Given the description of an element on the screen output the (x, y) to click on. 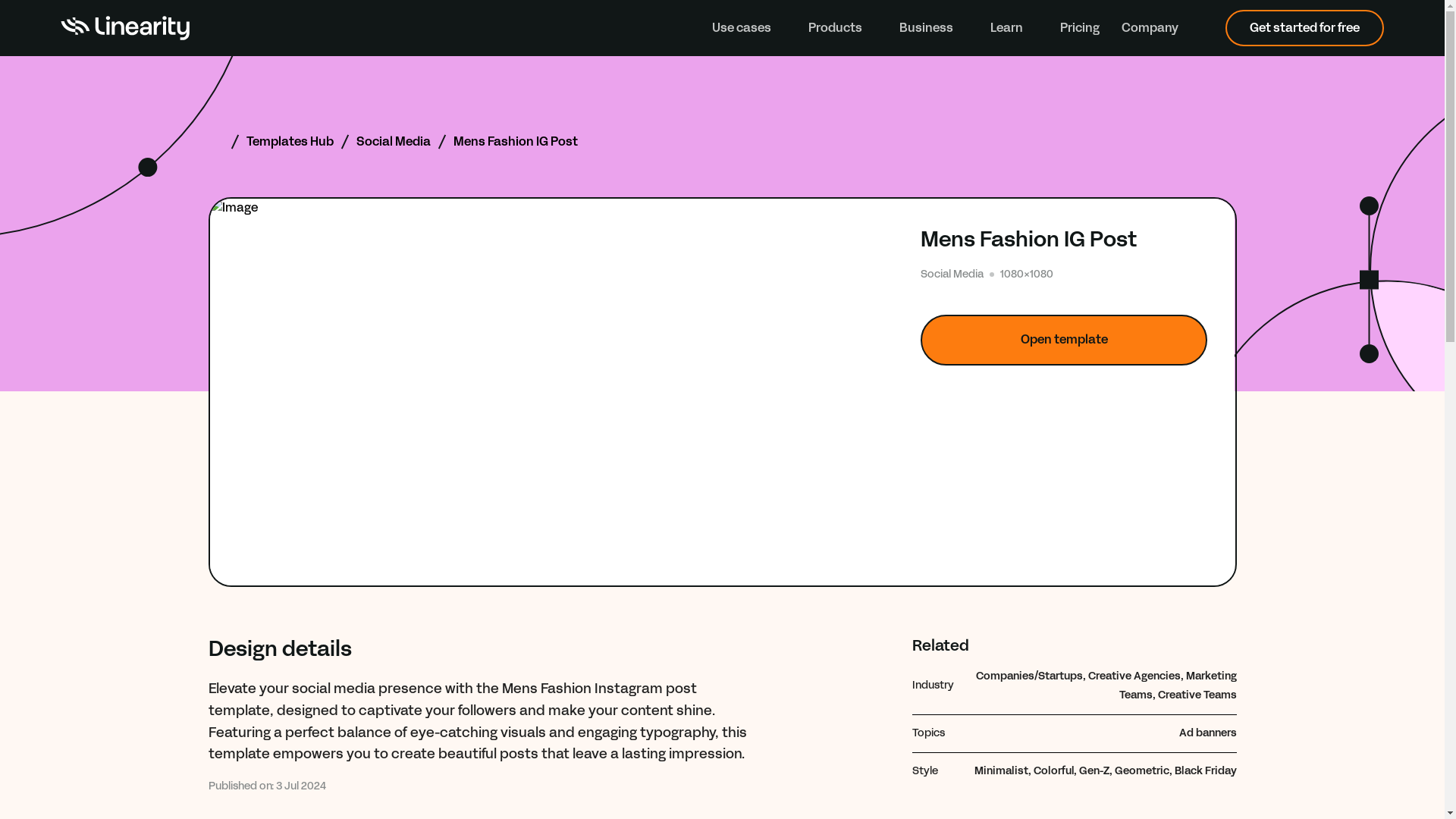
Learn (1014, 27)
Company (1157, 27)
Use cases (748, 27)
Products (842, 27)
Pricing (1079, 27)
Business (933, 27)
Social Media (393, 141)
Get started for free (1304, 27)
Open template (1064, 339)
Templates Hub (289, 141)
